Given the description of an element on the screen output the (x, y) to click on. 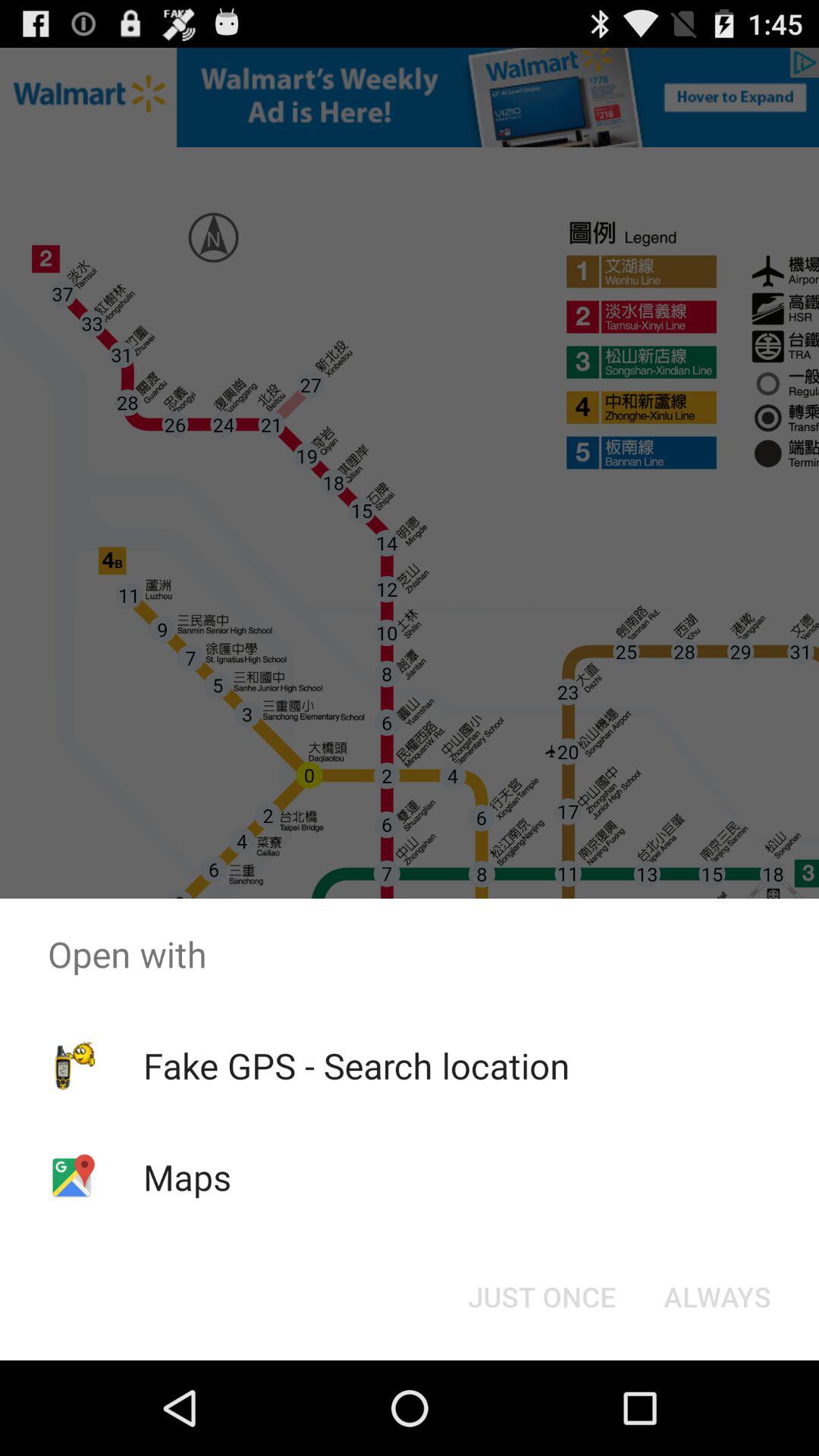
tap icon at the bottom right corner (717, 1296)
